Given the description of an element on the screen output the (x, y) to click on. 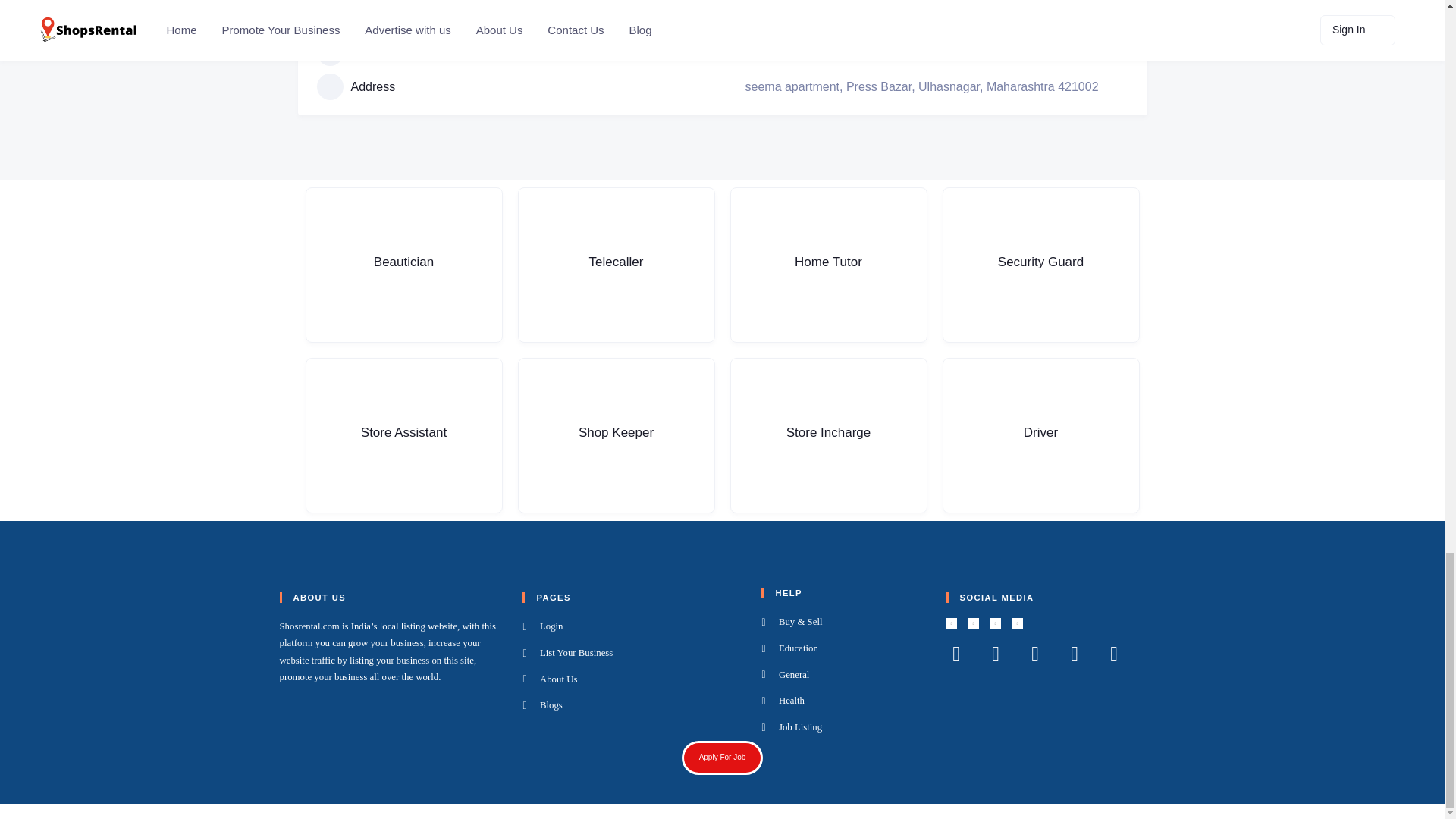
Beautician (403, 265)
Job Listing (843, 728)
Education (843, 648)
Telecaller (615, 265)
Shop Keeper (615, 435)
General (843, 675)
Health (843, 701)
Store Incharge (827, 435)
Home Tutor (827, 265)
About Us (631, 679)
List Your Business (631, 653)
Store Assistant (403, 435)
Login (631, 627)
Driver (1040, 435)
Blogs (631, 705)
